Given the description of an element on the screen output the (x, y) to click on. 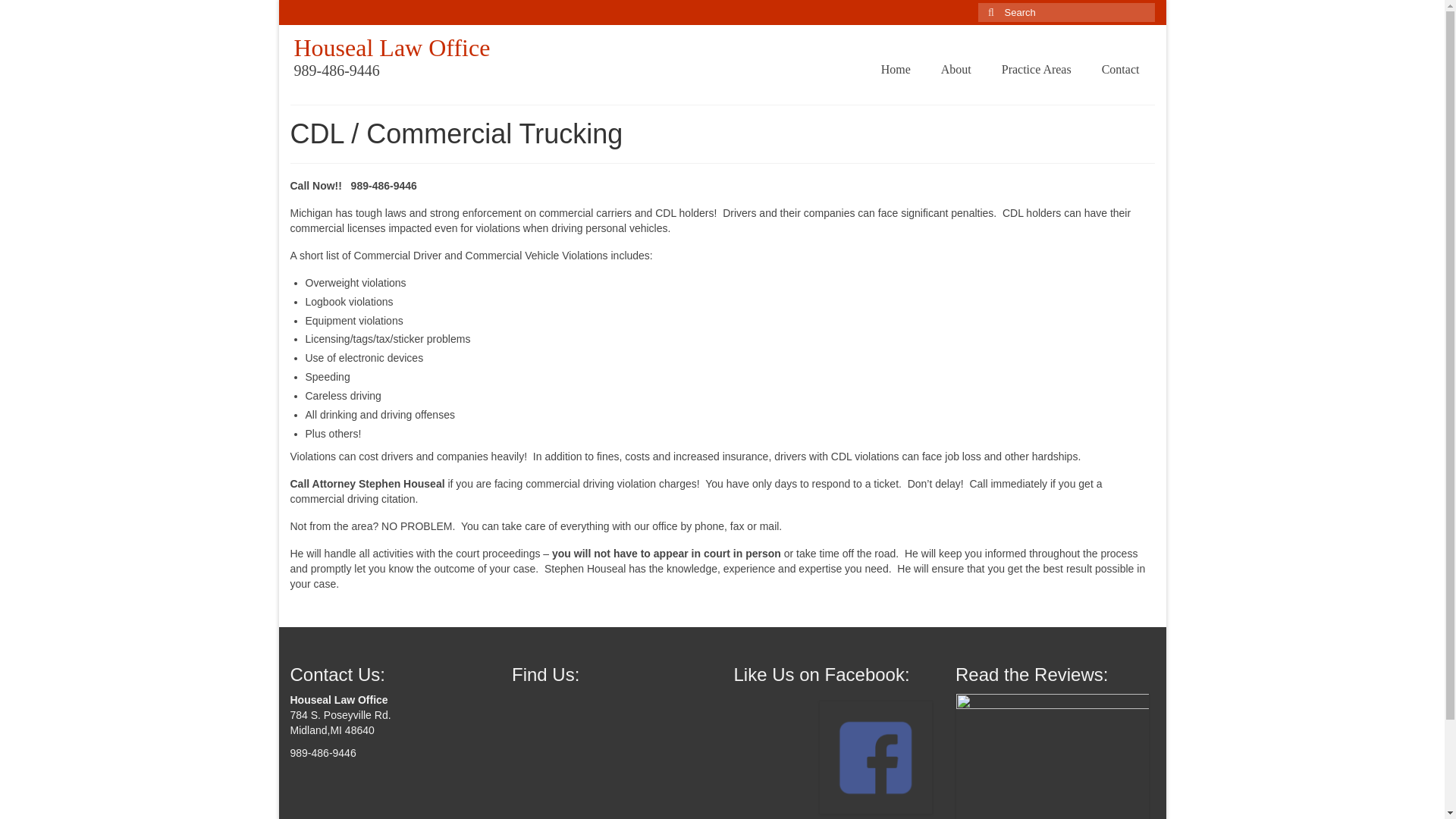
Home (896, 69)
Houseal Law Office (392, 47)
Practice Areas (1036, 69)
About (956, 69)
Contact (1120, 69)
